Given the description of an element on the screen output the (x, y) to click on. 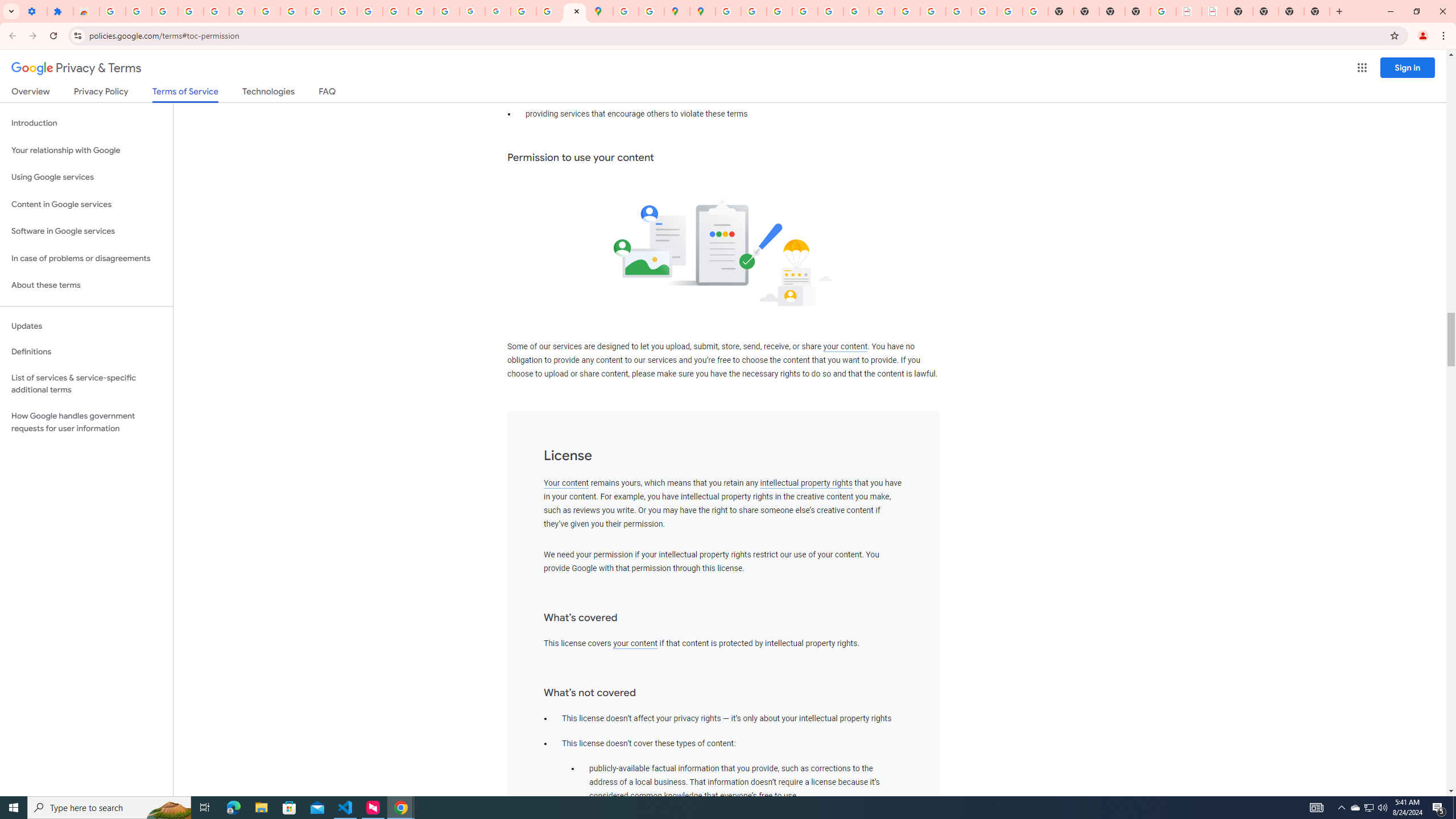
Definitions (86, 352)
Updates (86, 325)
Google Account (293, 11)
BAE Systems Brasil | BAE Systems (1213, 11)
Privacy Help Center - Policies Help (804, 11)
